Given the description of an element on the screen output the (x, y) to click on. 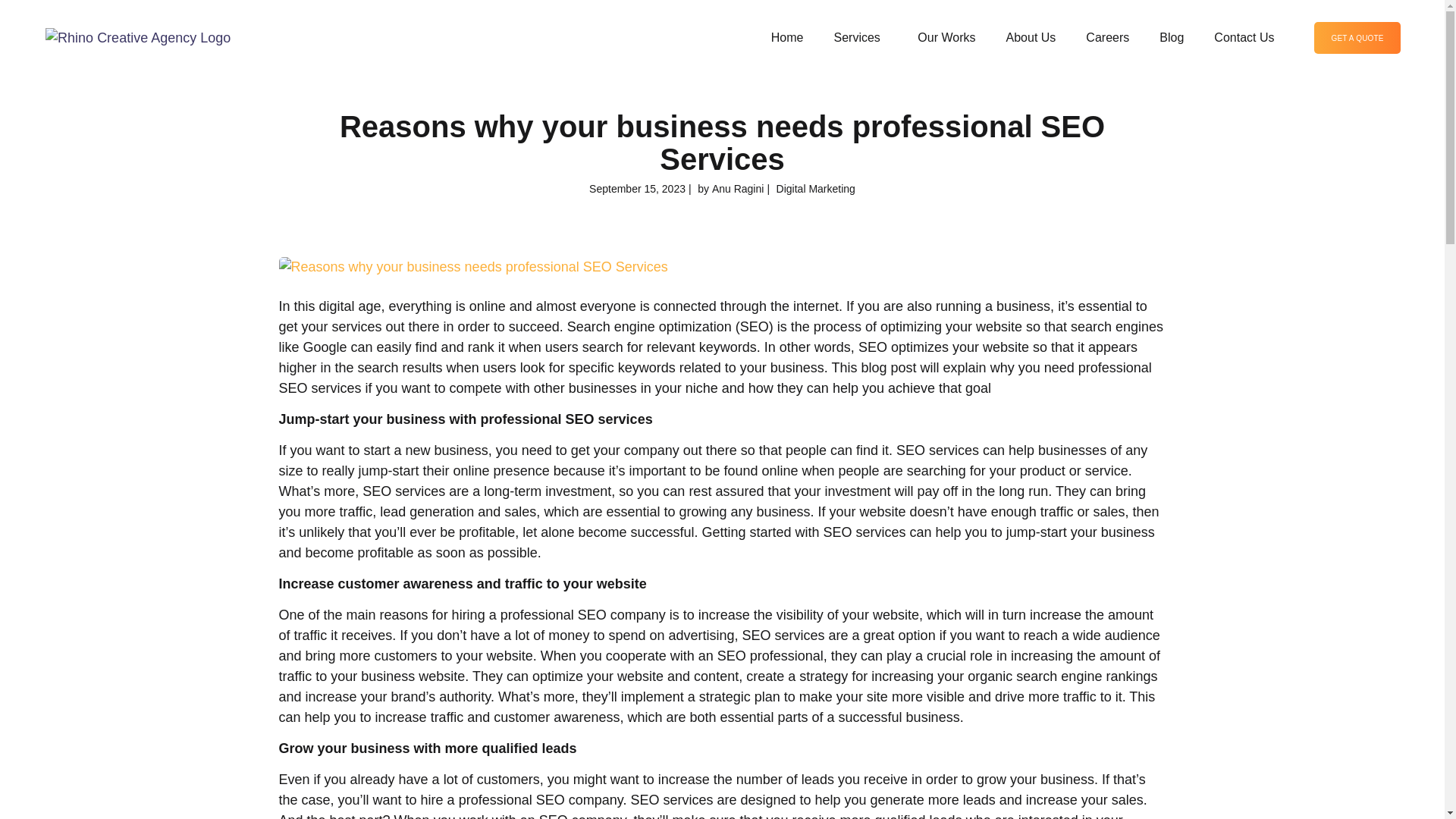
Digital Marketing (816, 188)
rhino-creative-agency-logo (137, 37)
Our Works (946, 37)
GET A QUOTE (1356, 37)
Anu Ragini (737, 188)
Contact Us (1244, 37)
